Given the description of an element on the screen output the (x, y) to click on. 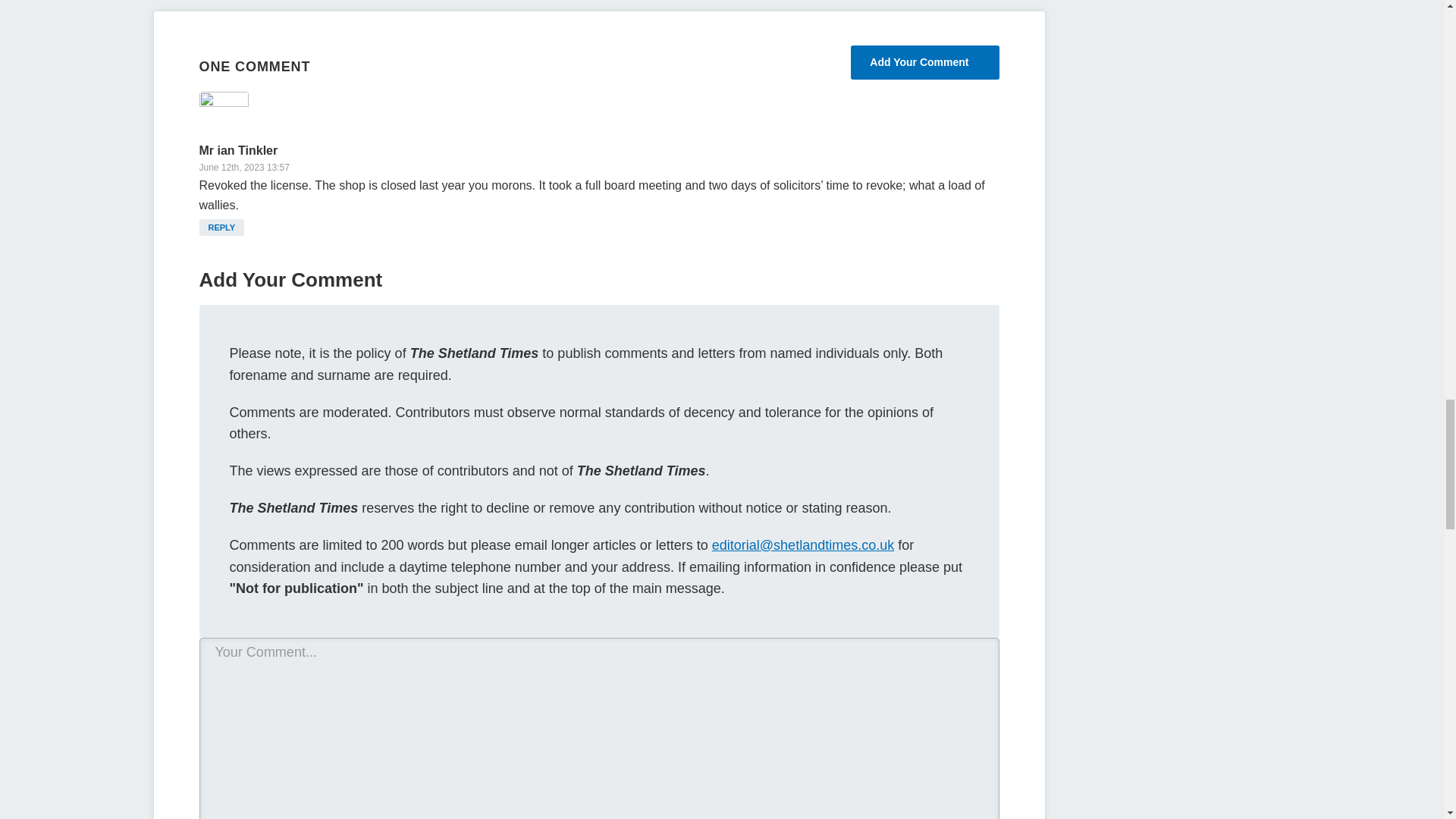
Add Your Comment (924, 62)
Mr ian Tinkler (238, 150)
REPLY (221, 227)
